Given the description of an element on the screen output the (x, y) to click on. 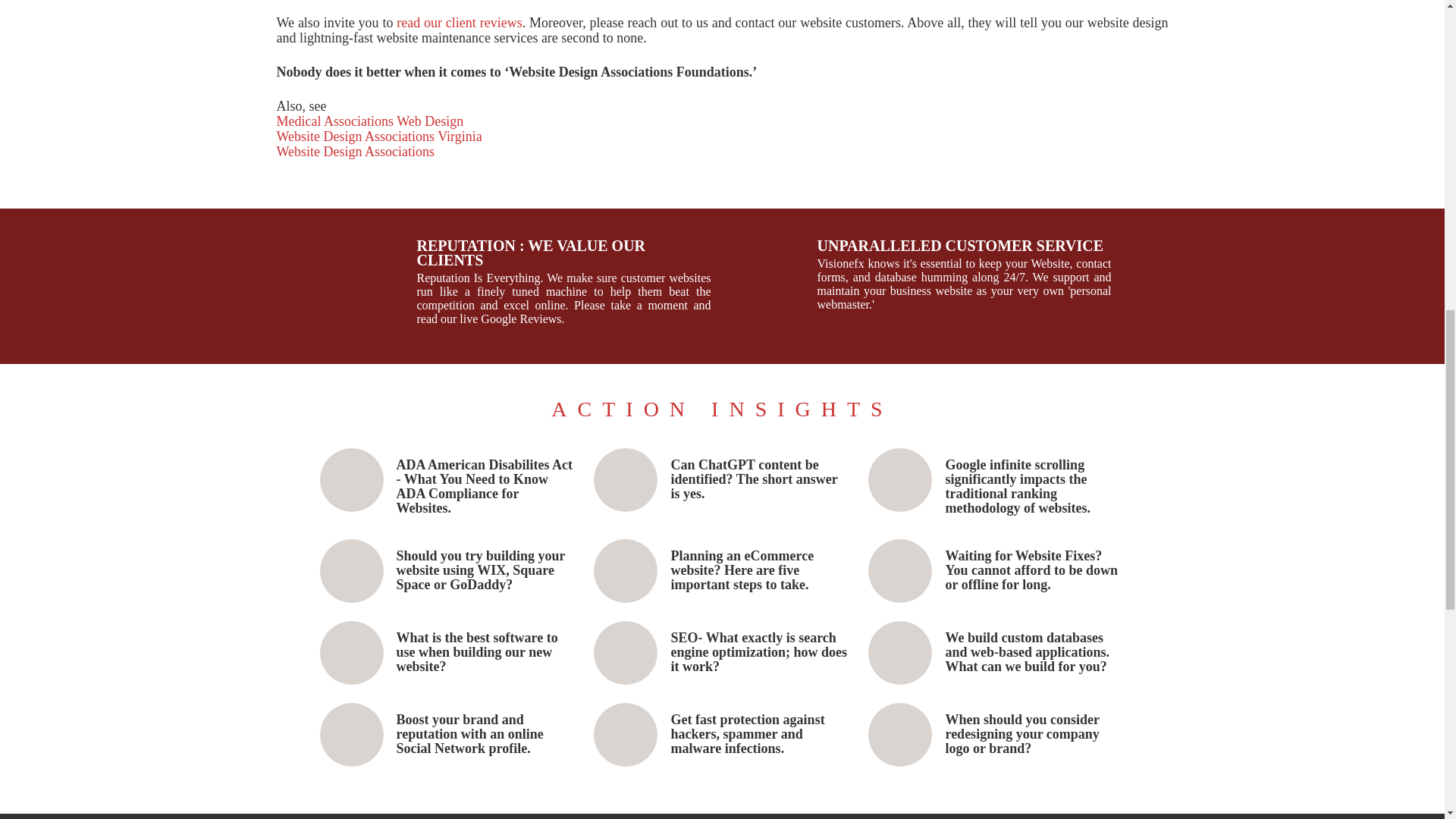
read our client reviews (458, 22)
Website Design Associations Virginia (378, 136)
Medical Associations Web Design (369, 120)
UNPARALLELED CUSTOMER SERVICE (964, 246)
REPUTATION : WE VALUE OUR CLIENTS (563, 253)
Website Design Associations (354, 151)
